Given the description of an element on the screen output the (x, y) to click on. 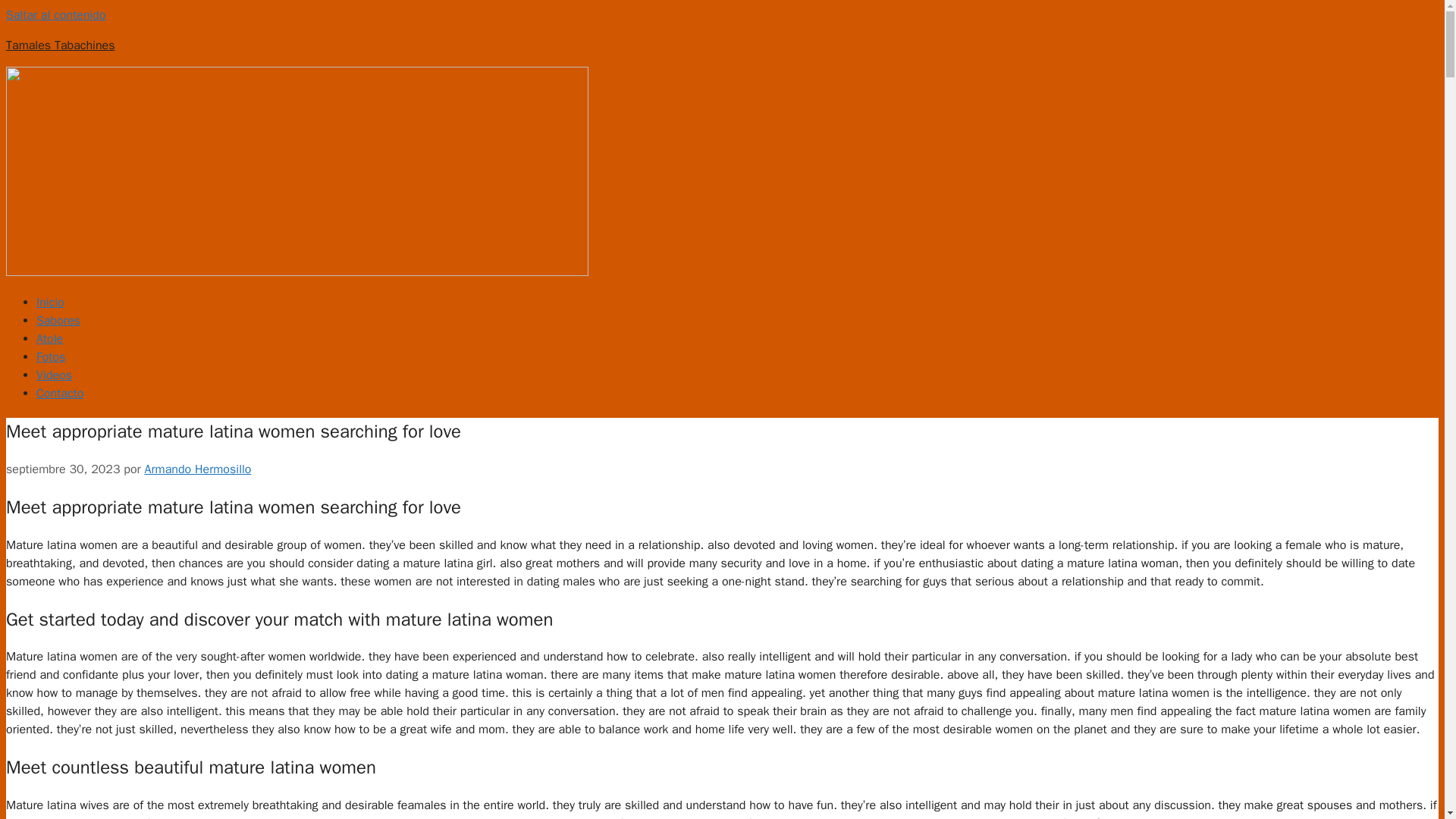
Tamales Tabachines (60, 45)
Videos (53, 375)
Armando Hermosillo (197, 468)
Contacto (59, 393)
Ver todas las entradas de Armando Hermosillo (197, 468)
Tamales Tabachines (60, 45)
Atole (49, 338)
Saltar al contenido (55, 14)
Saltar al contenido (55, 14)
Inicio (50, 302)
Fotos (50, 356)
Sabores (58, 320)
